Given the description of an element on the screen output the (x, y) to click on. 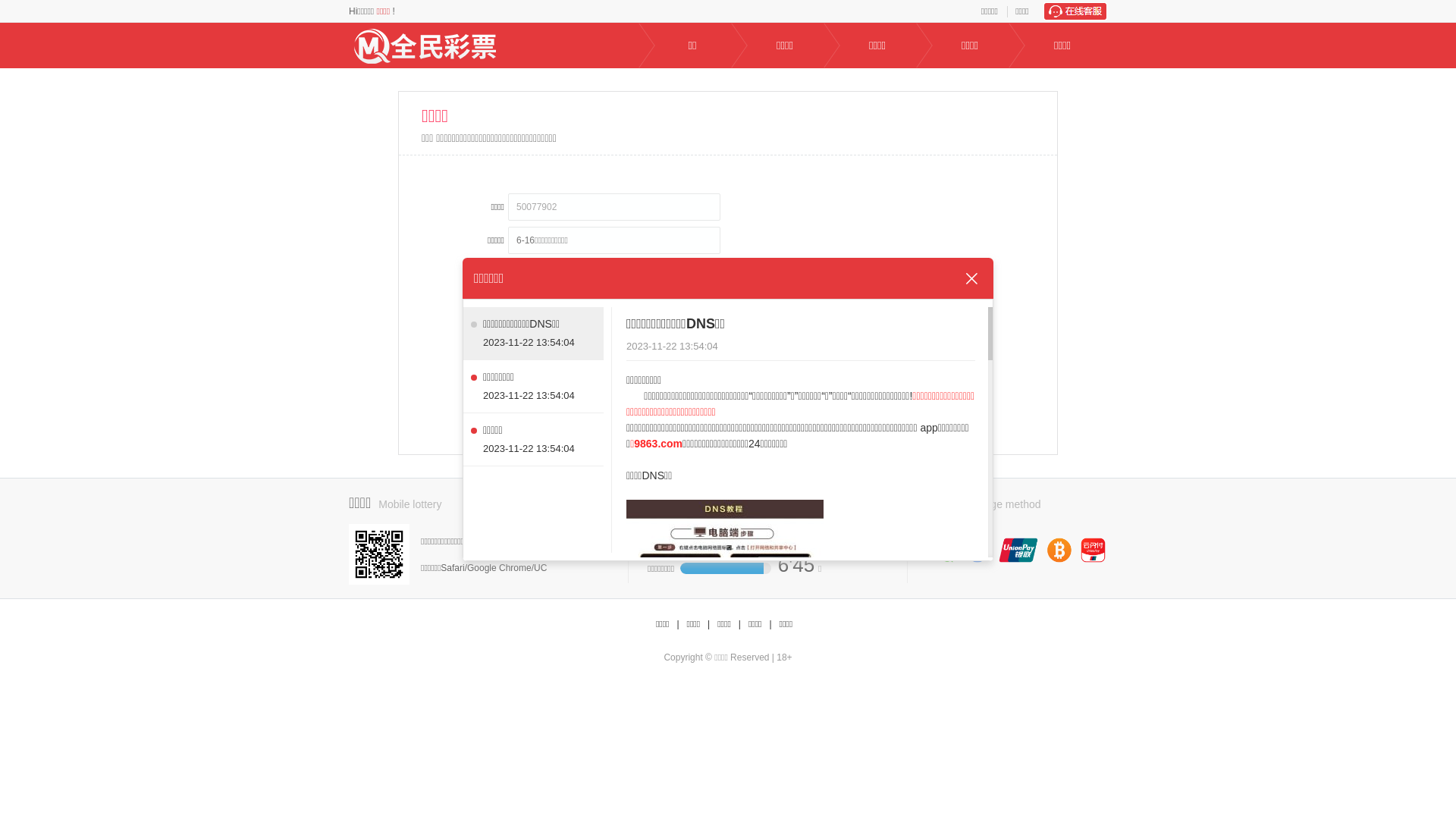
| Element type: text (677, 624)
| Element type: text (739, 624)
| Element type: text (769, 624)
| Element type: text (708, 624)
